Given the description of an element on the screen output the (x, y) to click on. 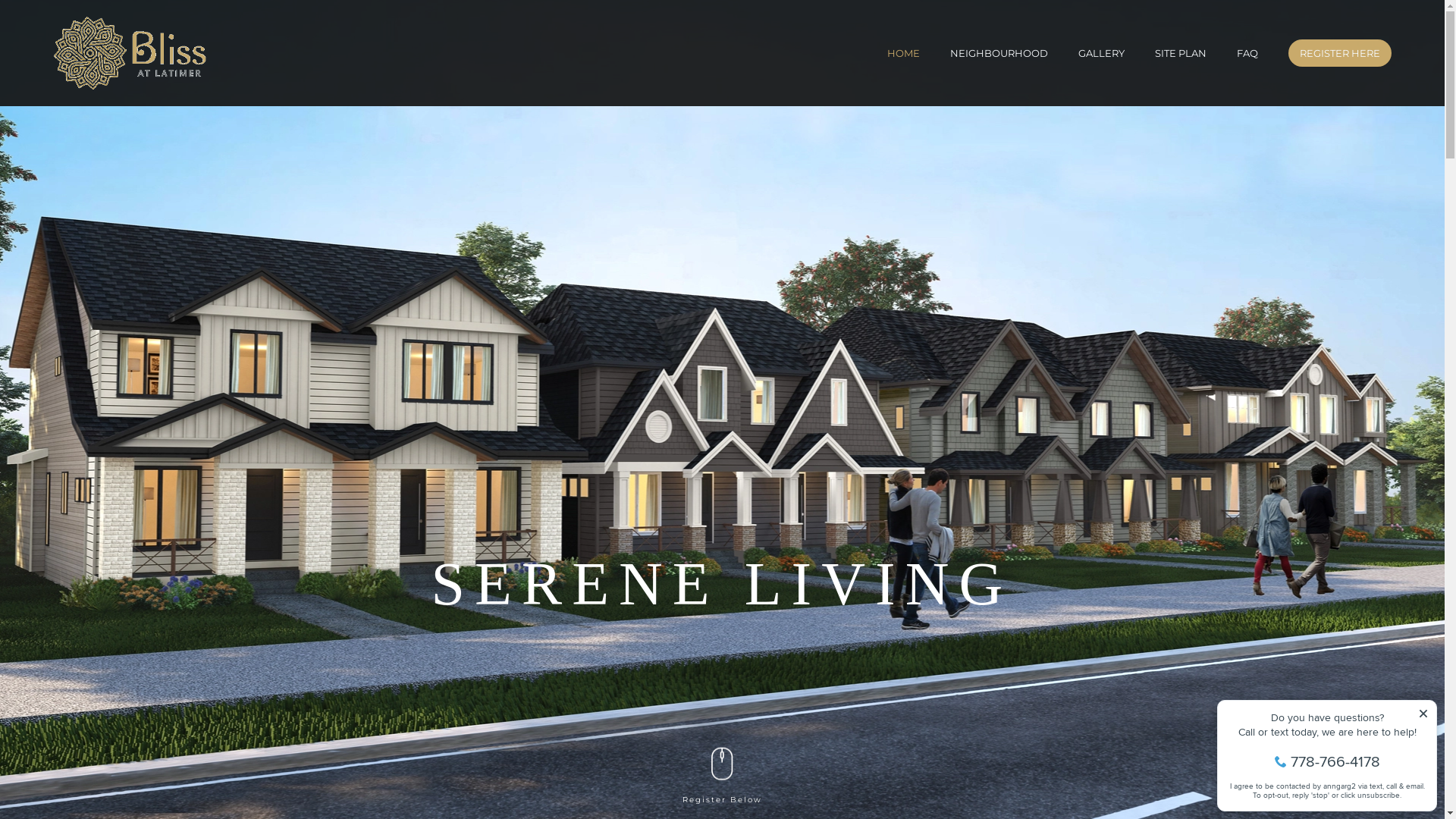
HOME Element type: text (903, 53)
SITE PLAN Element type: text (1180, 53)
NEIGHBOURHOOD Element type: text (999, 53)
GALLERY Element type: text (1101, 53)
FAQ Element type: text (1247, 53)
REGISTER HERE Element type: text (1339, 52)
